Given the description of an element on the screen output the (x, y) to click on. 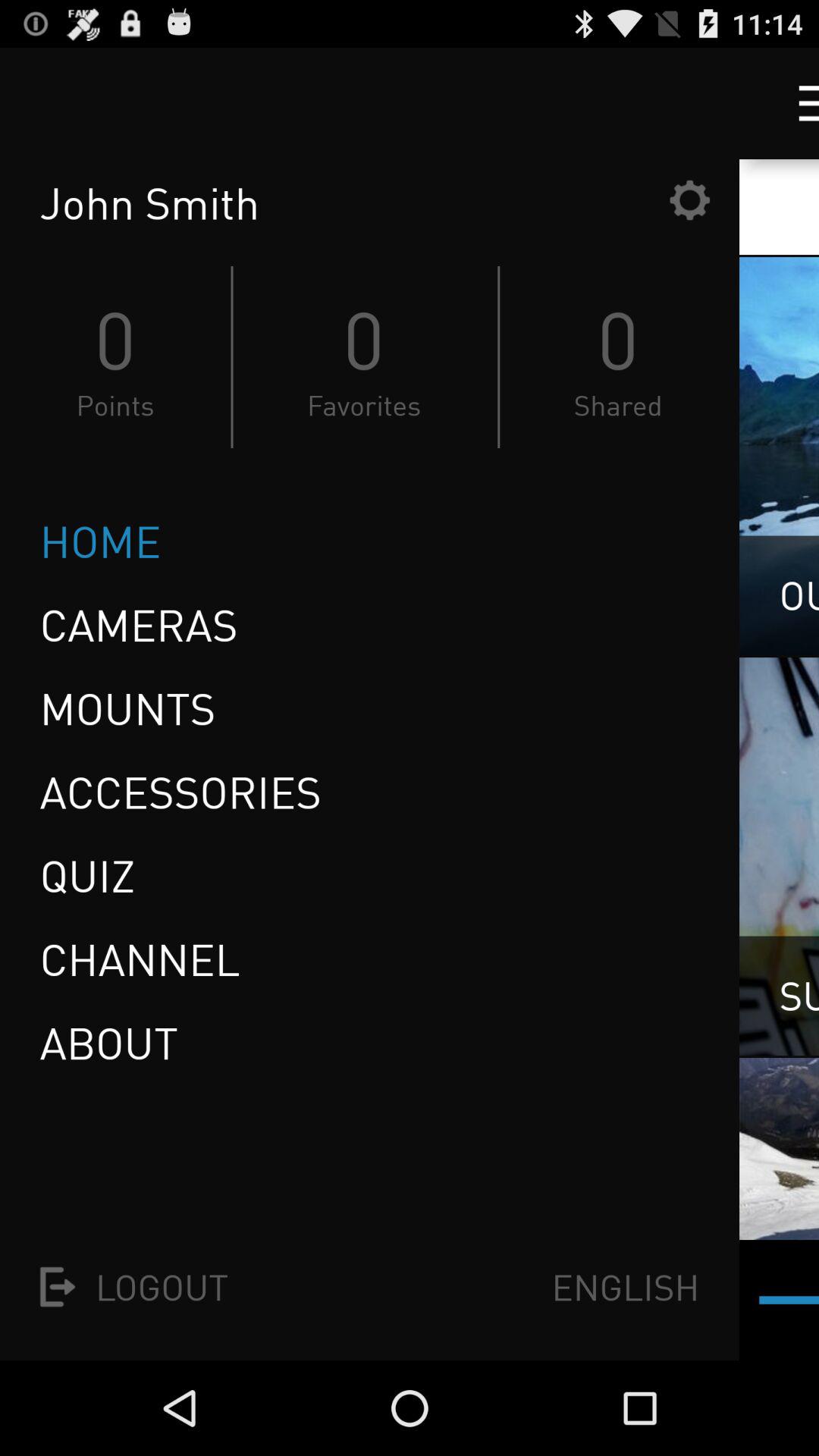
turn off the item above the accessories icon (127, 708)
